Given the description of an element on the screen output the (x, y) to click on. 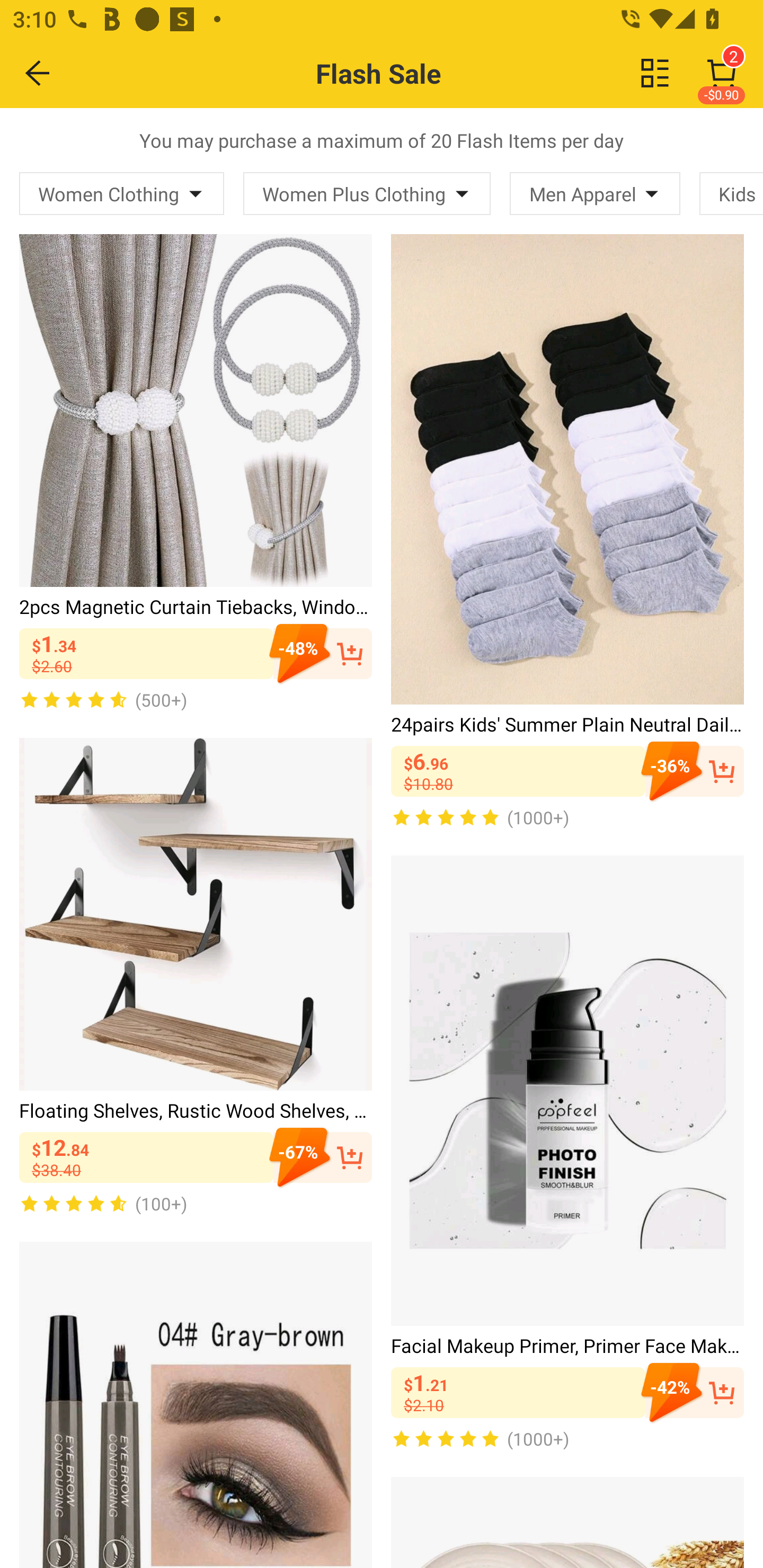
Flash Sale change view 2 -$0.90 (419, 72)
2 -$0.90 (721, 72)
change view (654, 72)
BACK (38, 72)
Women Clothing (121, 193)
Women Plus Clothing (366, 193)
Men Apparel (594, 193)
Kids (731, 193)
